Given the description of an element on the screen output the (x, y) to click on. 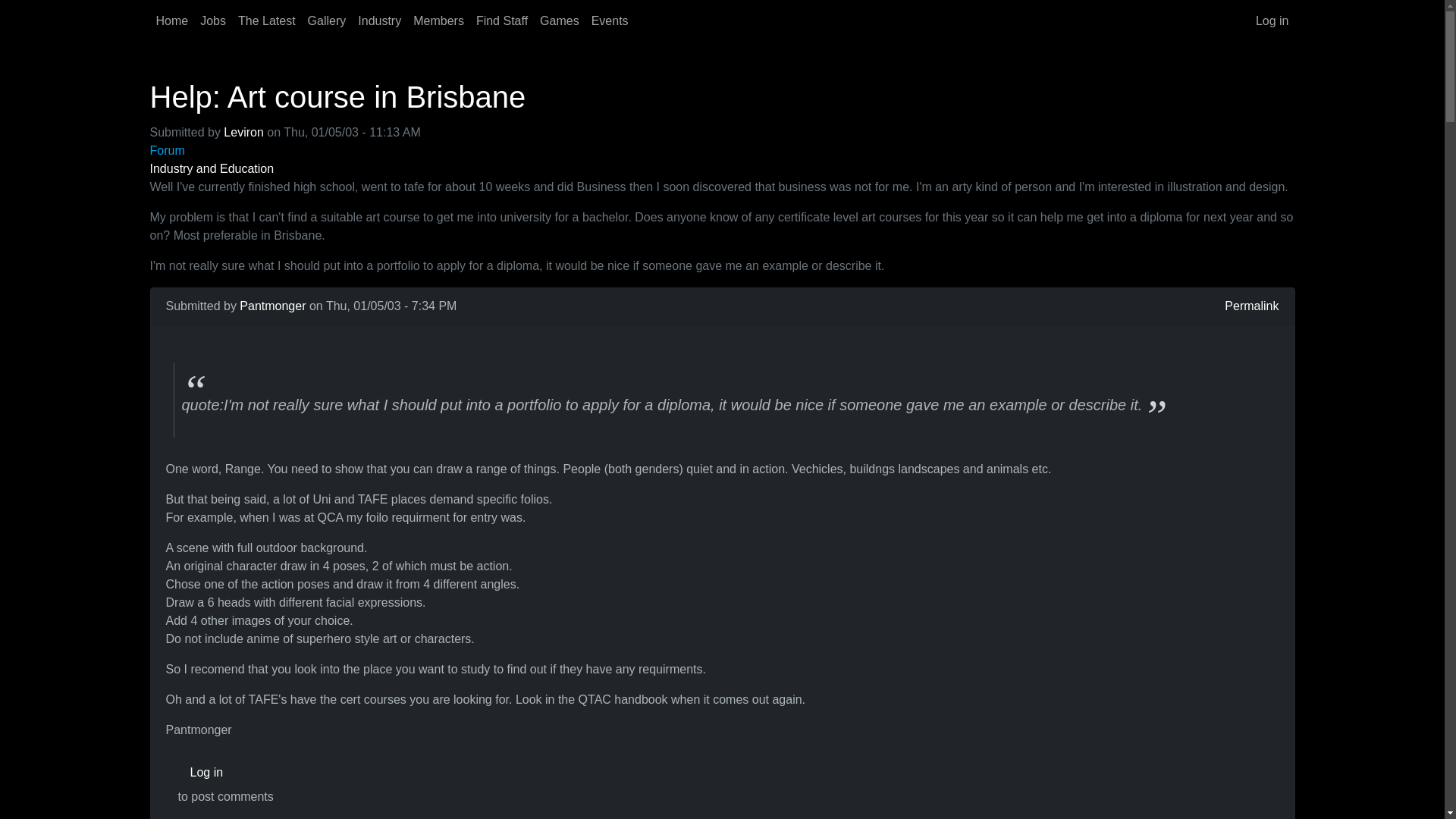
The Latest (266, 20)
Home (172, 20)
Events (609, 20)
Find Staff (502, 20)
Members (438, 20)
Industry and Education (212, 168)
Gallery (326, 20)
Pantmonger (272, 305)
Jobs (212, 20)
Leviron (243, 132)
Industry (379, 20)
Games (559, 20)
Log in (1272, 20)
Thursday, 1 May, 2003 - 11:13 AM (351, 132)
View user profile. (272, 305)
